Given the description of an element on the screen output the (x, y) to click on. 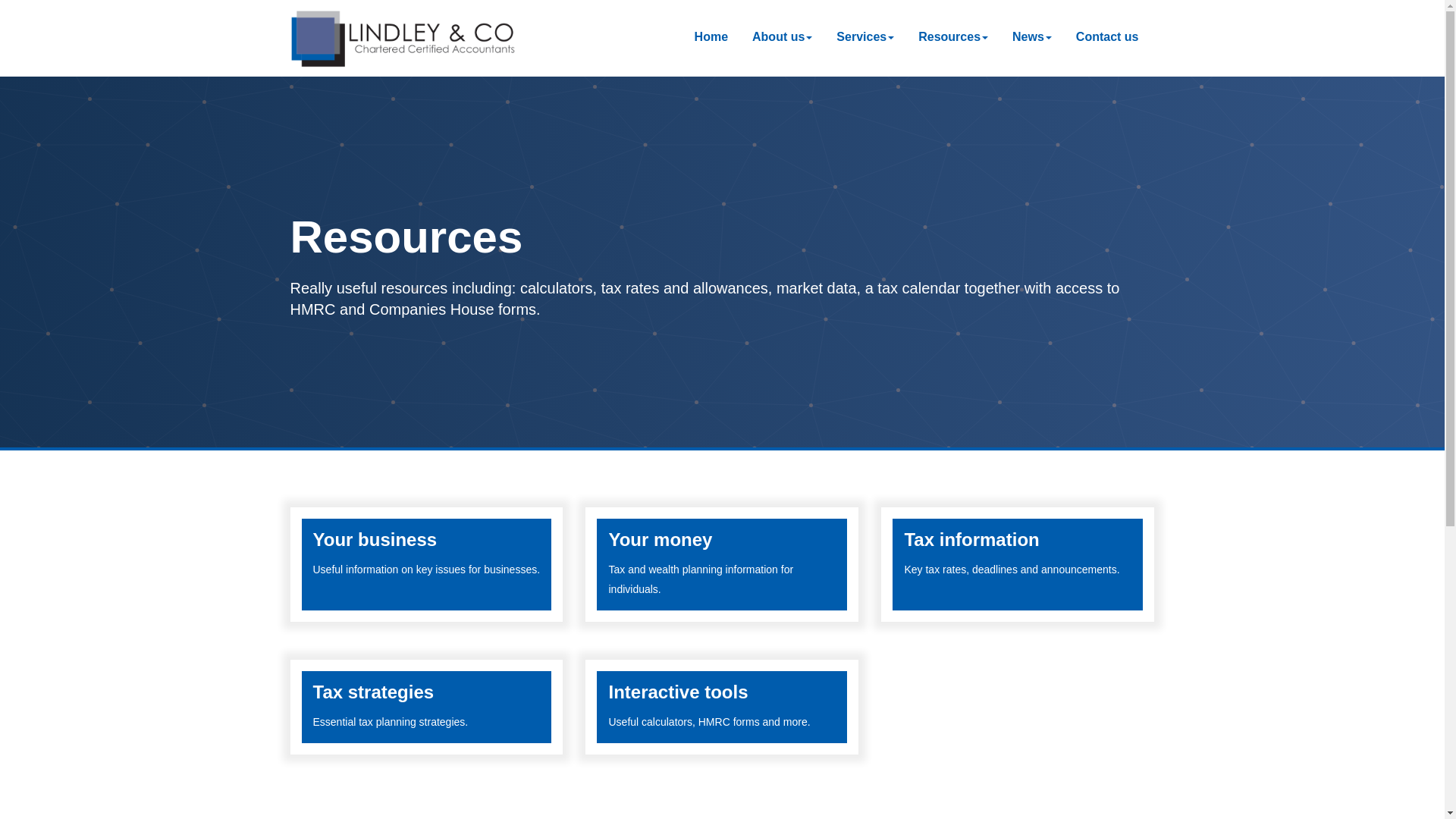
Services (864, 38)
About us (781, 38)
Resources (1017, 563)
About us (952, 38)
Resources (722, 707)
